Given the description of an element on the screen output the (x, y) to click on. 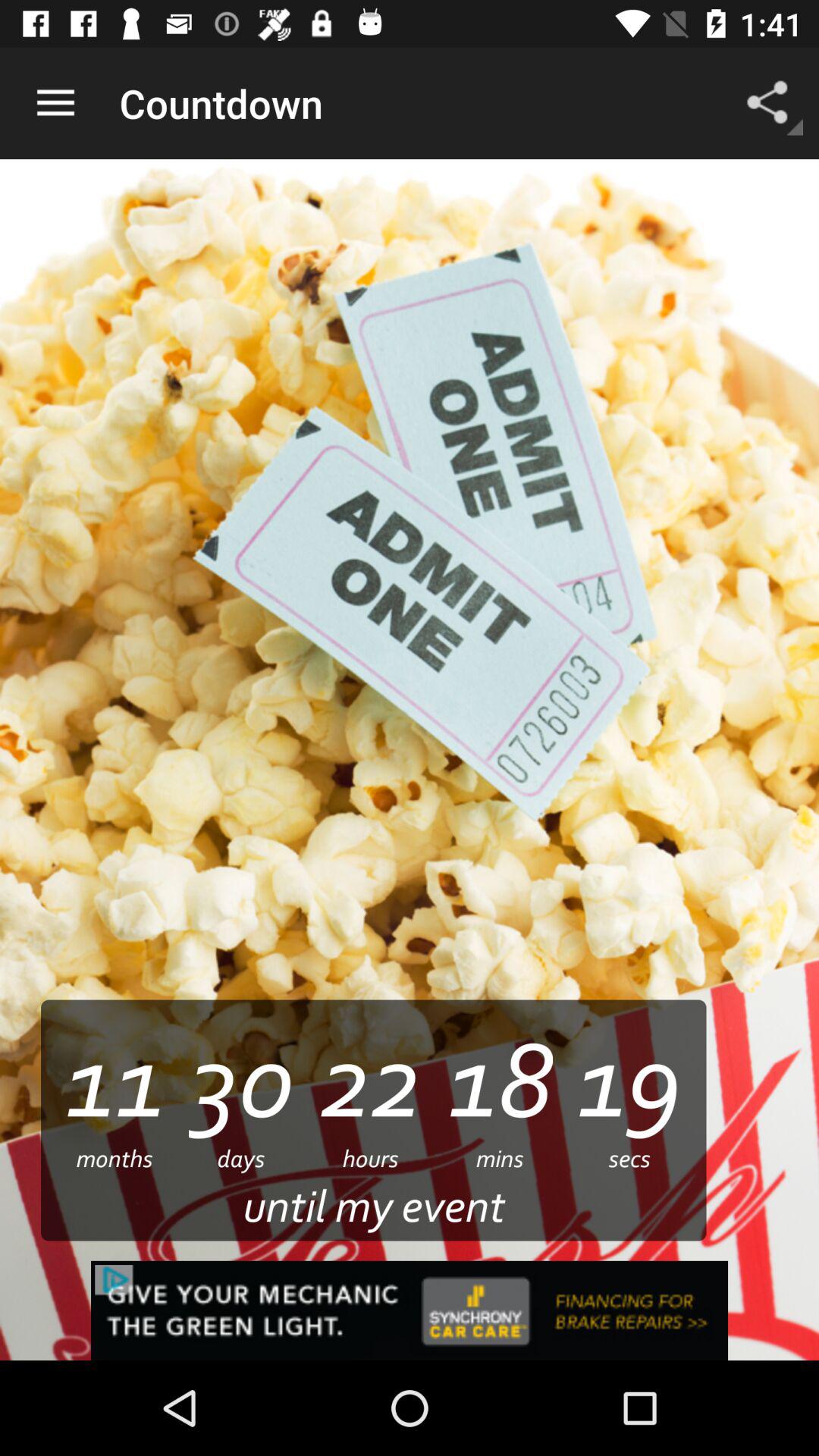
advertisement (409, 1310)
